Given the description of an element on the screen output the (x, y) to click on. 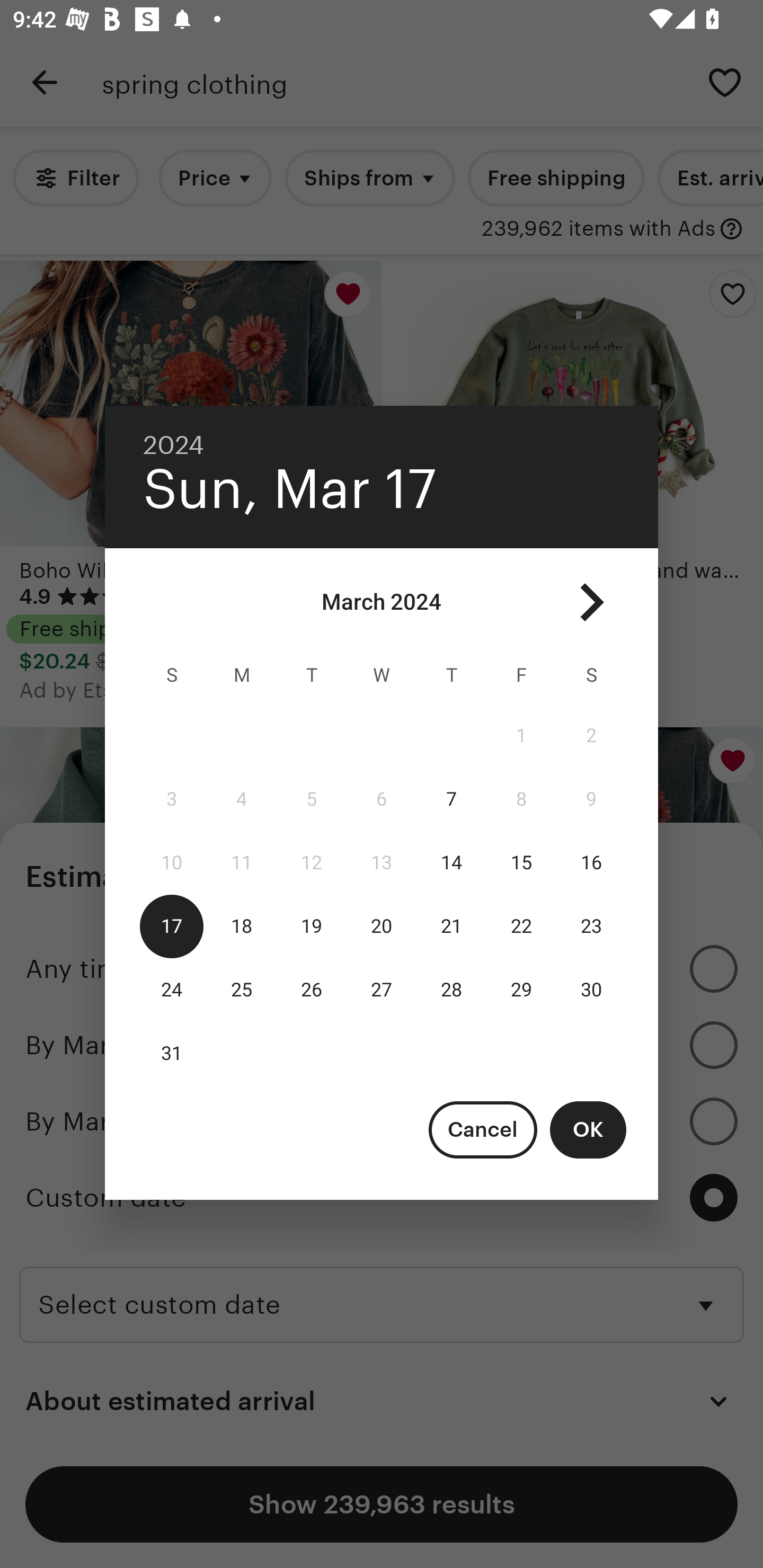
2024 (173, 444)
Sun, Mar 17 (290, 489)
Next month (591, 601)
1 01 March 2024 (521, 736)
2 02 March 2024 (591, 736)
3 03 March 2024 (171, 799)
4 04 March 2024 (241, 799)
5 05 March 2024 (311, 799)
6 06 March 2024 (381, 799)
7 07 March 2024 (451, 799)
8 08 March 2024 (521, 799)
9 09 March 2024 (591, 799)
10 10 March 2024 (171, 863)
11 11 March 2024 (241, 863)
12 12 March 2024 (311, 863)
13 13 March 2024 (381, 863)
14 14 March 2024 (451, 863)
15 15 March 2024 (521, 863)
16 16 March 2024 (591, 863)
17 17 March 2024 (171, 926)
18 18 March 2024 (241, 926)
19 19 March 2024 (311, 926)
20 20 March 2024 (381, 926)
21 21 March 2024 (451, 926)
22 22 March 2024 (521, 926)
23 23 March 2024 (591, 926)
24 24 March 2024 (171, 990)
25 25 March 2024 (241, 990)
26 26 March 2024 (311, 990)
27 27 March 2024 (381, 990)
28 28 March 2024 (451, 990)
29 29 March 2024 (521, 990)
30 30 March 2024 (591, 990)
31 31 March 2024 (171, 1053)
Cancel (482, 1129)
OK (588, 1129)
